Given the description of an element on the screen output the (x, y) to click on. 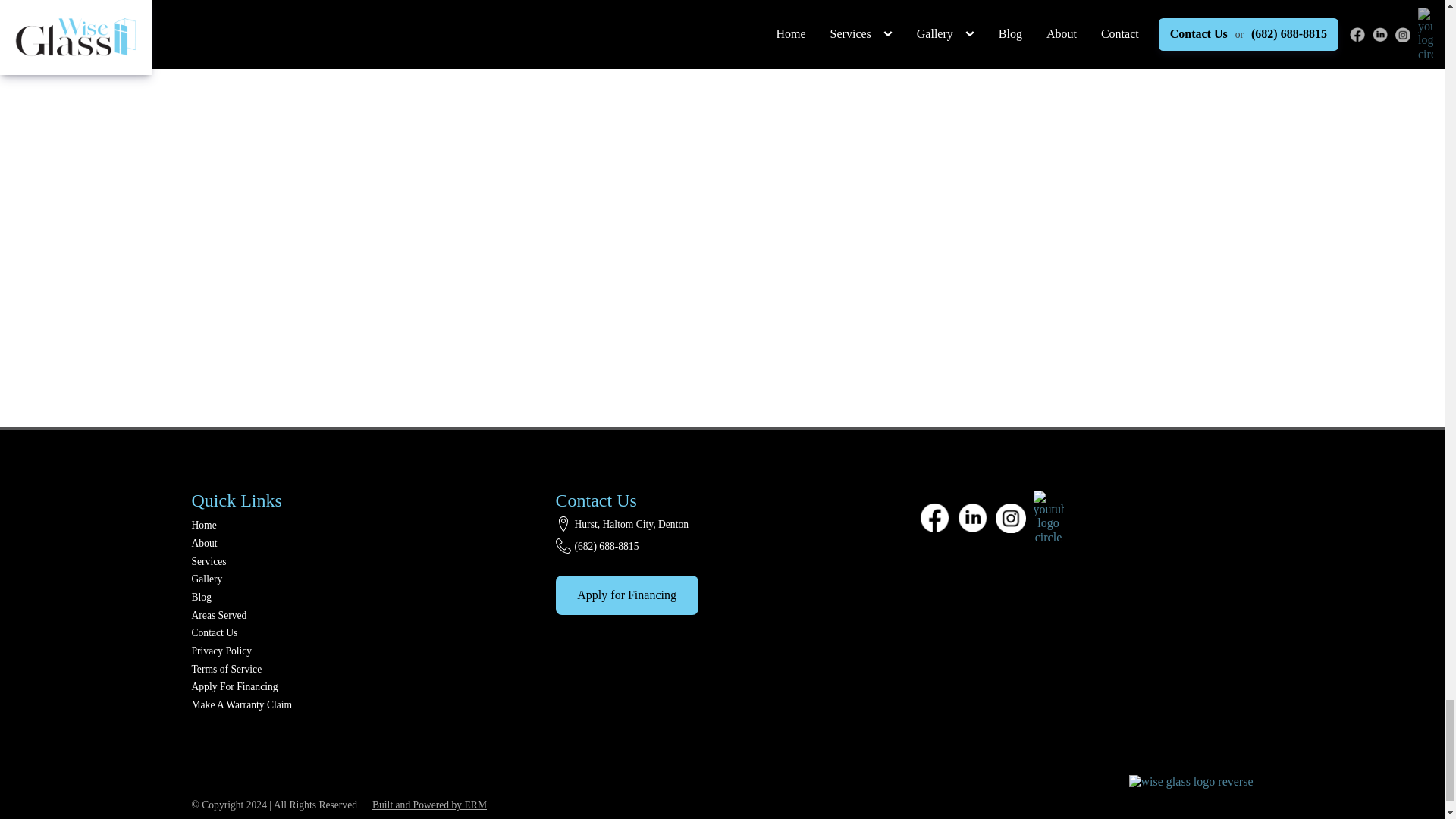
Blog (241, 597)
Gallery (241, 579)
Home (241, 525)
Privacy Policy (241, 651)
Areas Served (241, 615)
Services (241, 561)
About (241, 543)
Contact Us (241, 633)
Terms of Service (241, 669)
